Given the description of an element on the screen output the (x, y) to click on. 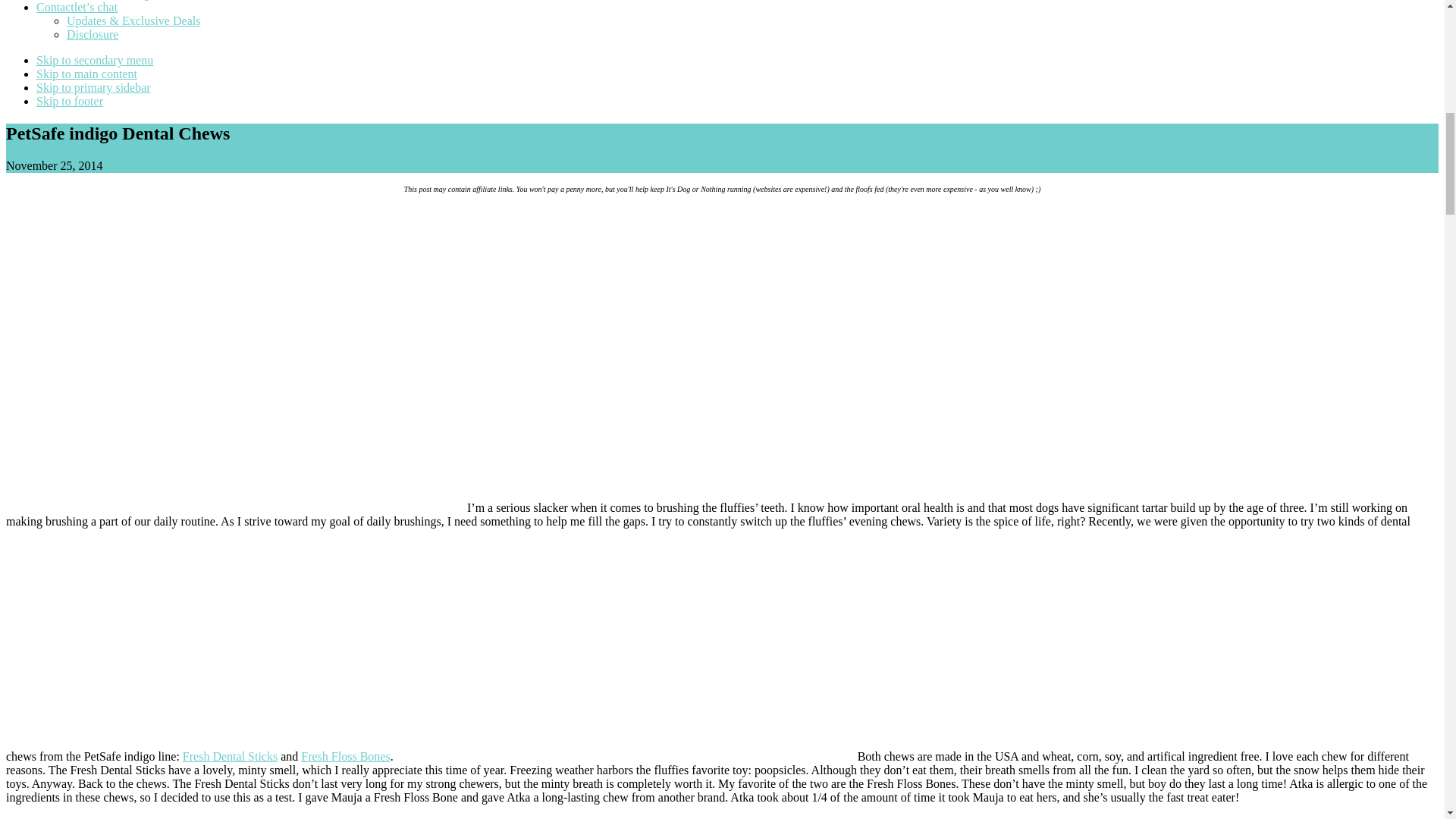
Skip to main content (86, 73)
Skip to secondary menu (94, 60)
Fresh Dental Sticks (230, 756)
Skip to primary sidebar (93, 87)
Disclosure (91, 33)
Fresh Floss Bones (345, 756)
Skip to footer (69, 101)
9 Comments (136, 164)
